Given the description of an element on the screen output the (x, y) to click on. 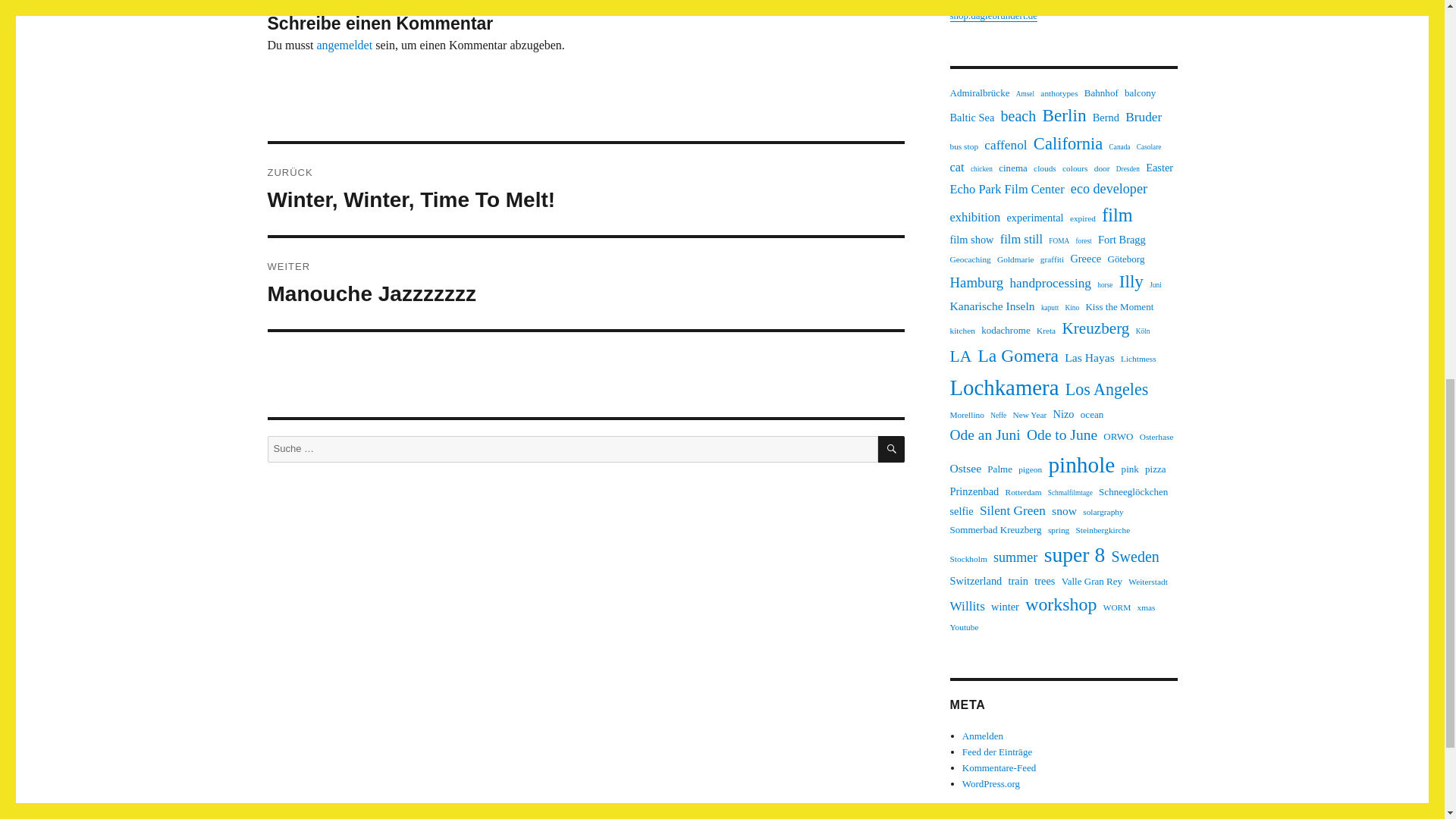
bus stop (963, 146)
California (1067, 144)
Bruder (1143, 117)
beach (1018, 115)
yumyumsoups.wordpress.com (1008, 2)
Berlin (1064, 115)
Baltic Sea (971, 117)
Canada (1120, 147)
Bahnhof (1101, 92)
Amsel (1024, 93)
anthotypes (1059, 92)
SUCHEN (890, 448)
caffenol (1005, 145)
angemeldet (343, 44)
Bernd (1106, 117)
